Given the description of an element on the screen output the (x, y) to click on. 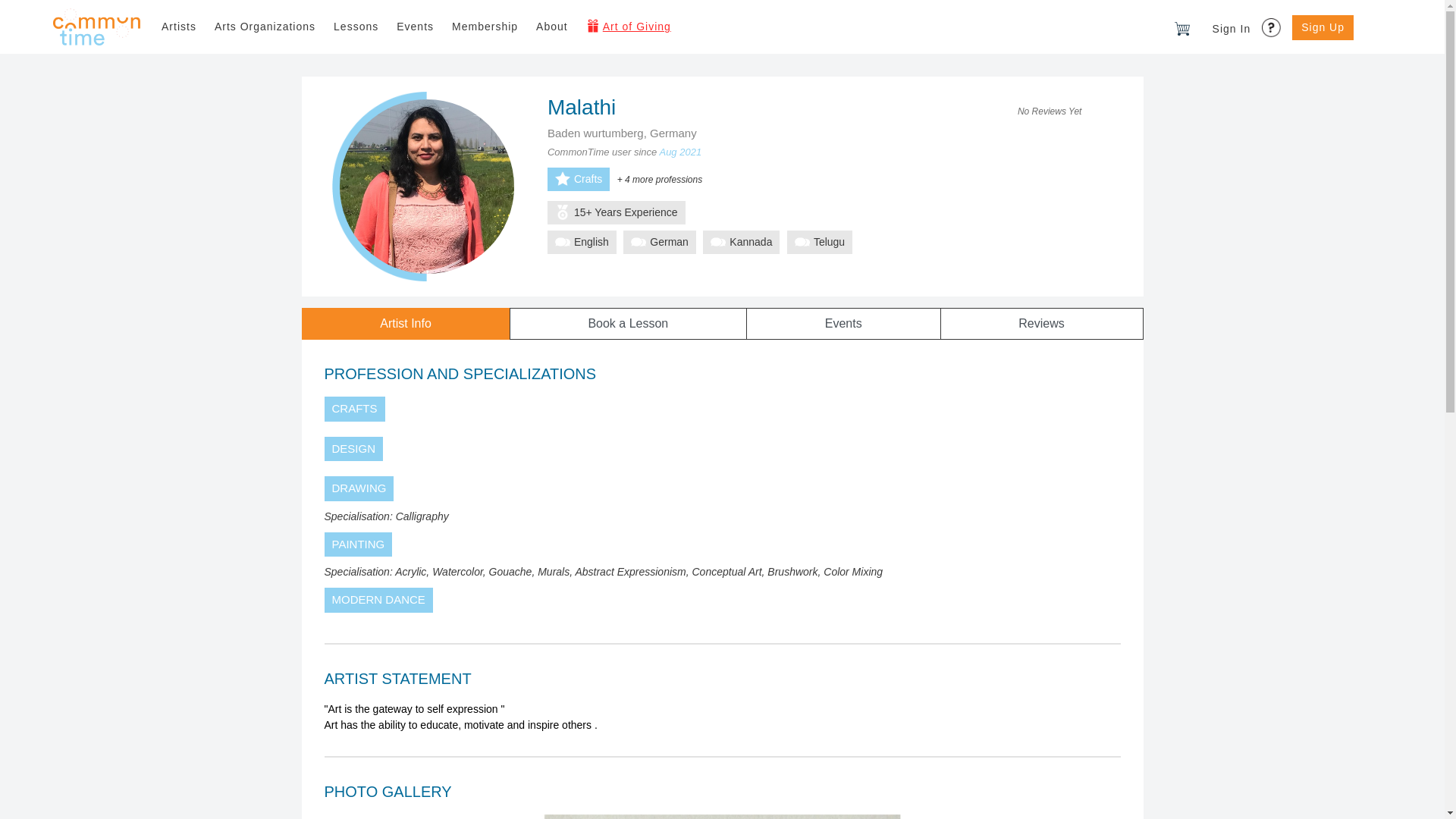
Sign Up (1323, 27)
FAQs (1273, 22)
Membership (484, 26)
Arts Organizations (264, 26)
Next (1061, 816)
Events (842, 323)
Book a Lesson (627, 323)
Previous (384, 816)
Artist Info (405, 323)
Reviews (1041, 323)
